Given the description of an element on the screen output the (x, y) to click on. 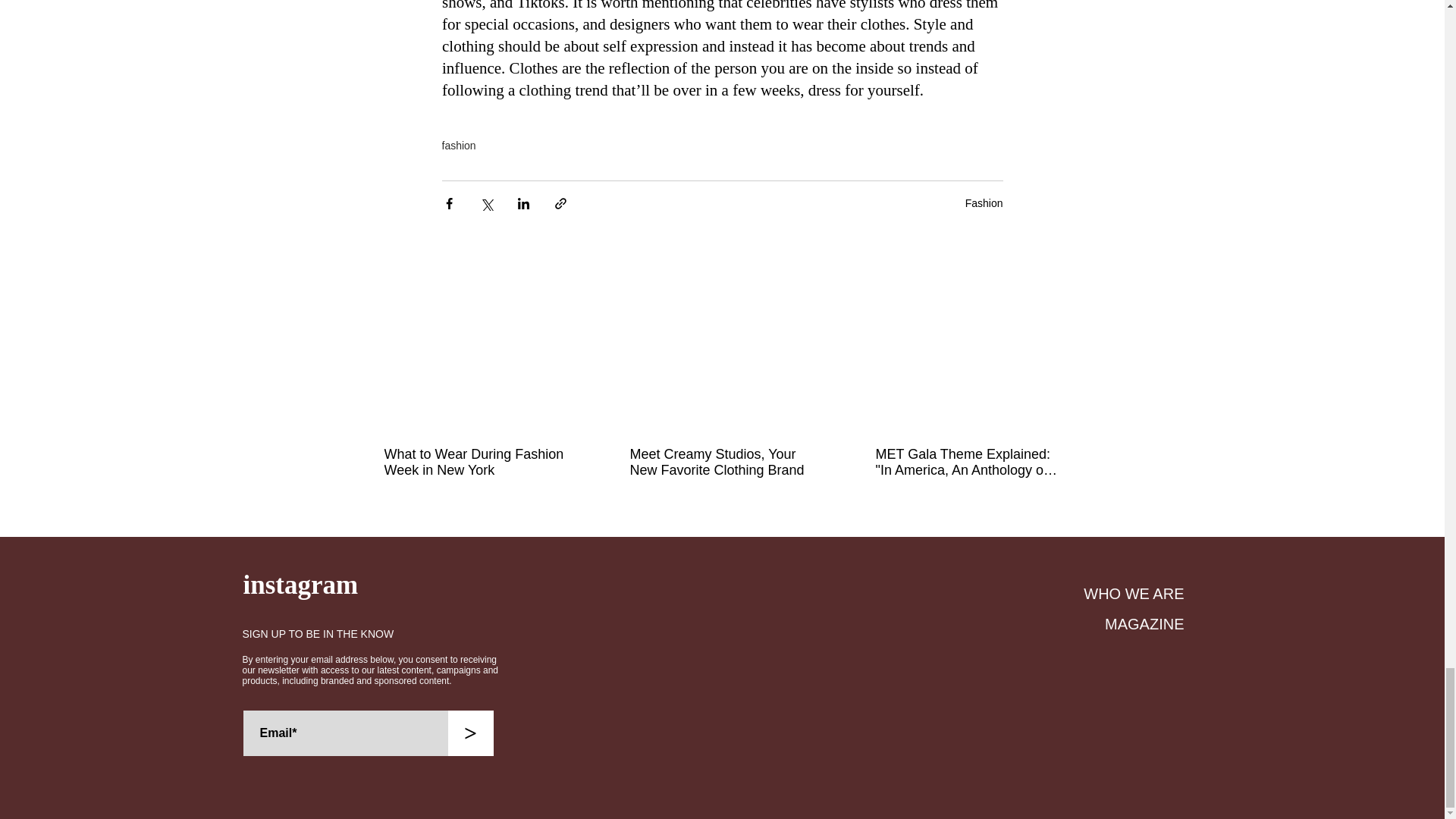
instagram (300, 584)
WHO WE ARE (1133, 593)
Fashion (984, 203)
Meet Creamy Studios, Your New Favorite Clothing Brand (720, 462)
MAGAZINE (1144, 623)
fashion (458, 145)
What to Wear During Fashion Week in New York (475, 462)
